Given the description of an element on the screen output the (x, y) to click on. 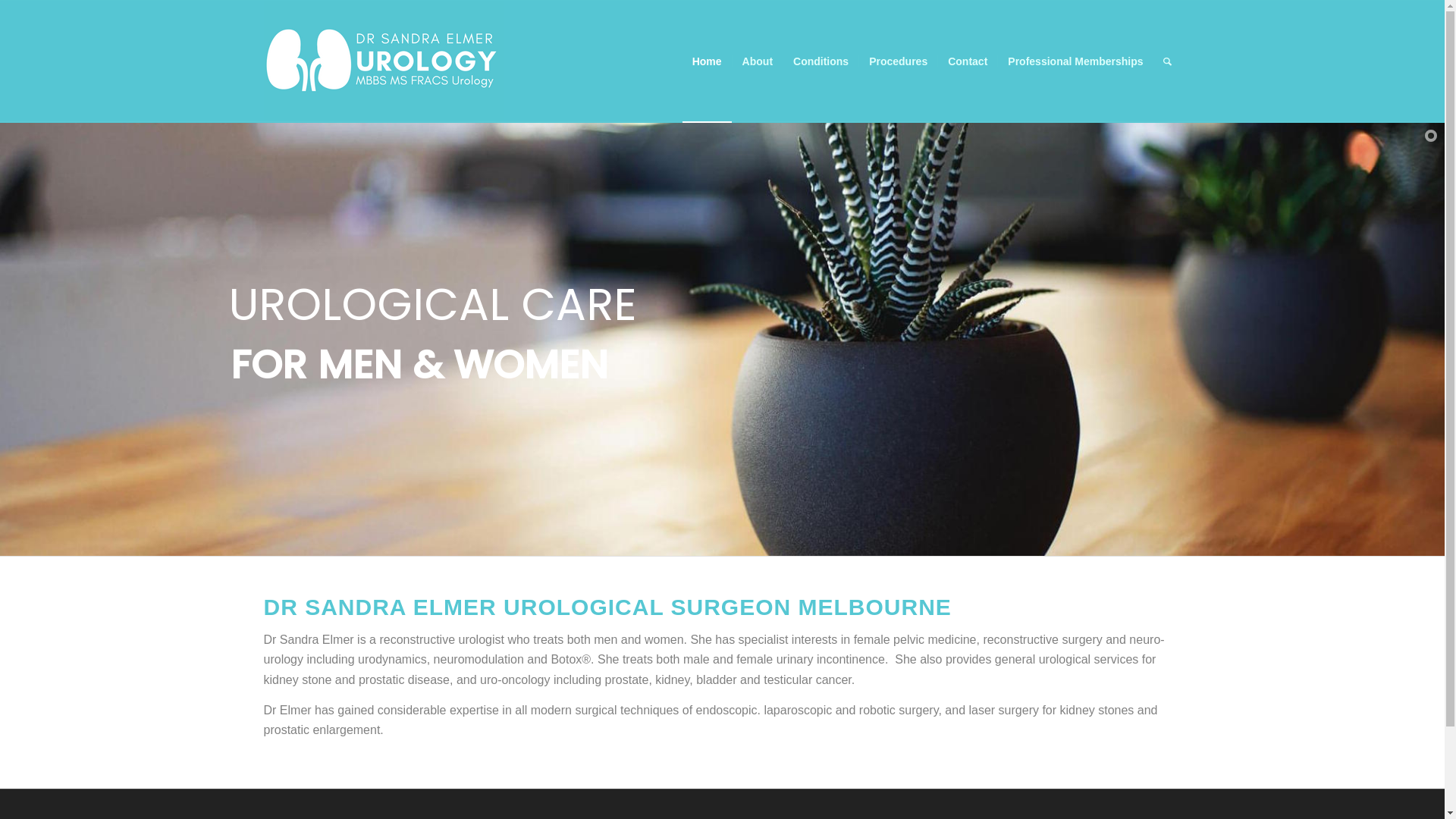
Contact Element type: text (967, 61)
Procedures Element type: text (897, 61)
Home Element type: text (706, 61)
Conditions Element type: text (820, 61)
About Element type: text (756, 61)
Professional Memberships Element type: text (1074, 61)
